Given the description of an element on the screen output the (x, y) to click on. 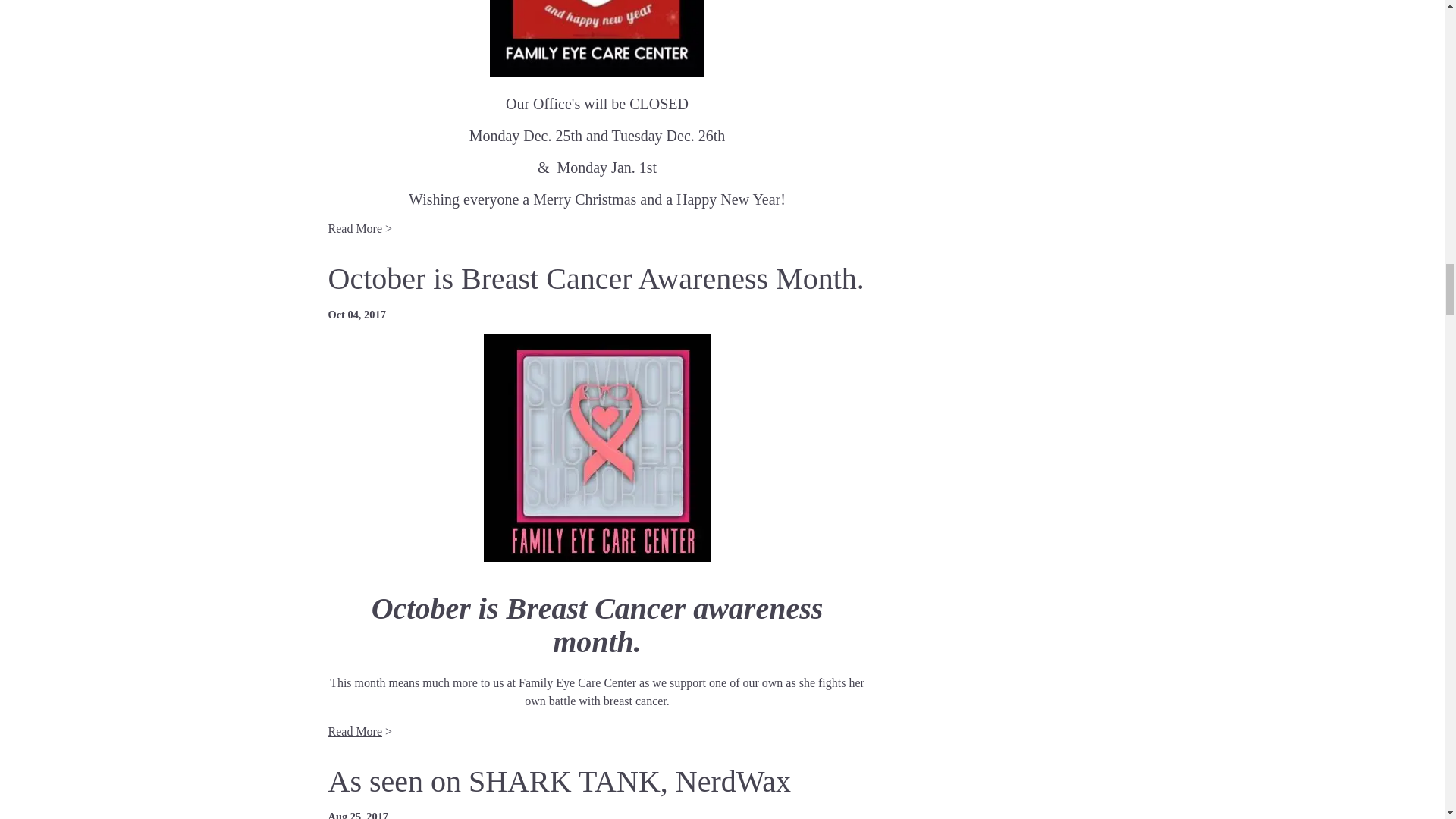
October is Breast Cancer Awareness Month. (595, 278)
Read More (354, 228)
Read More (354, 730)
